Given the description of an element on the screen output the (x, y) to click on. 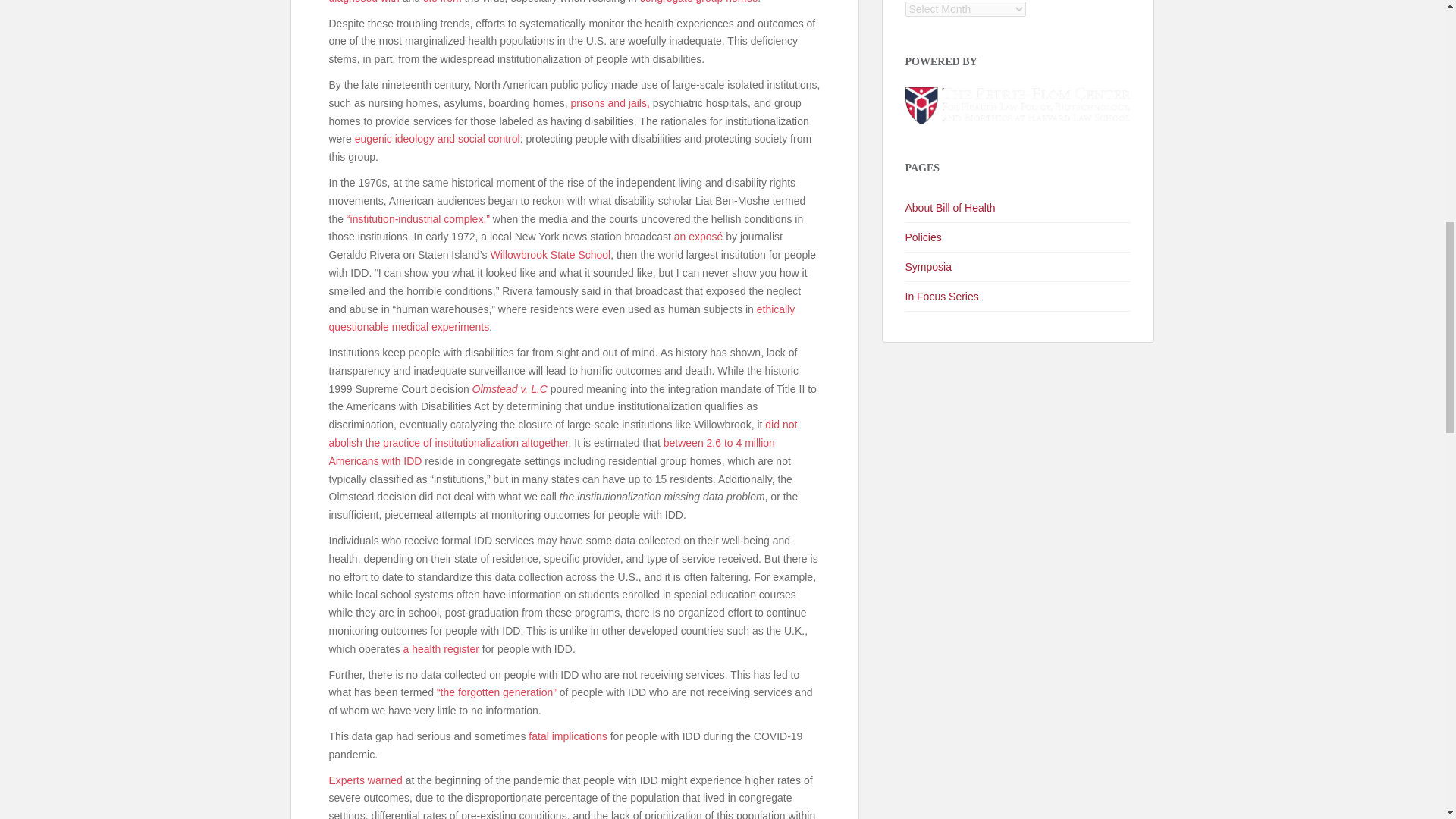
die from (442, 2)
fatal implications (567, 736)
congregate group homes (699, 2)
Olmstead v. L.C (509, 388)
diagnosed with (363, 2)
prisons and jails, (609, 102)
Willowbrook State School (549, 254)
a health register (441, 648)
Experts warned (366, 779)
eugenic ideology and social control (437, 138)
between 2.6 to 4 million Americans with IDD (551, 451)
ethically questionable medical experiments (561, 318)
